Given the description of an element on the screen output the (x, y) to click on. 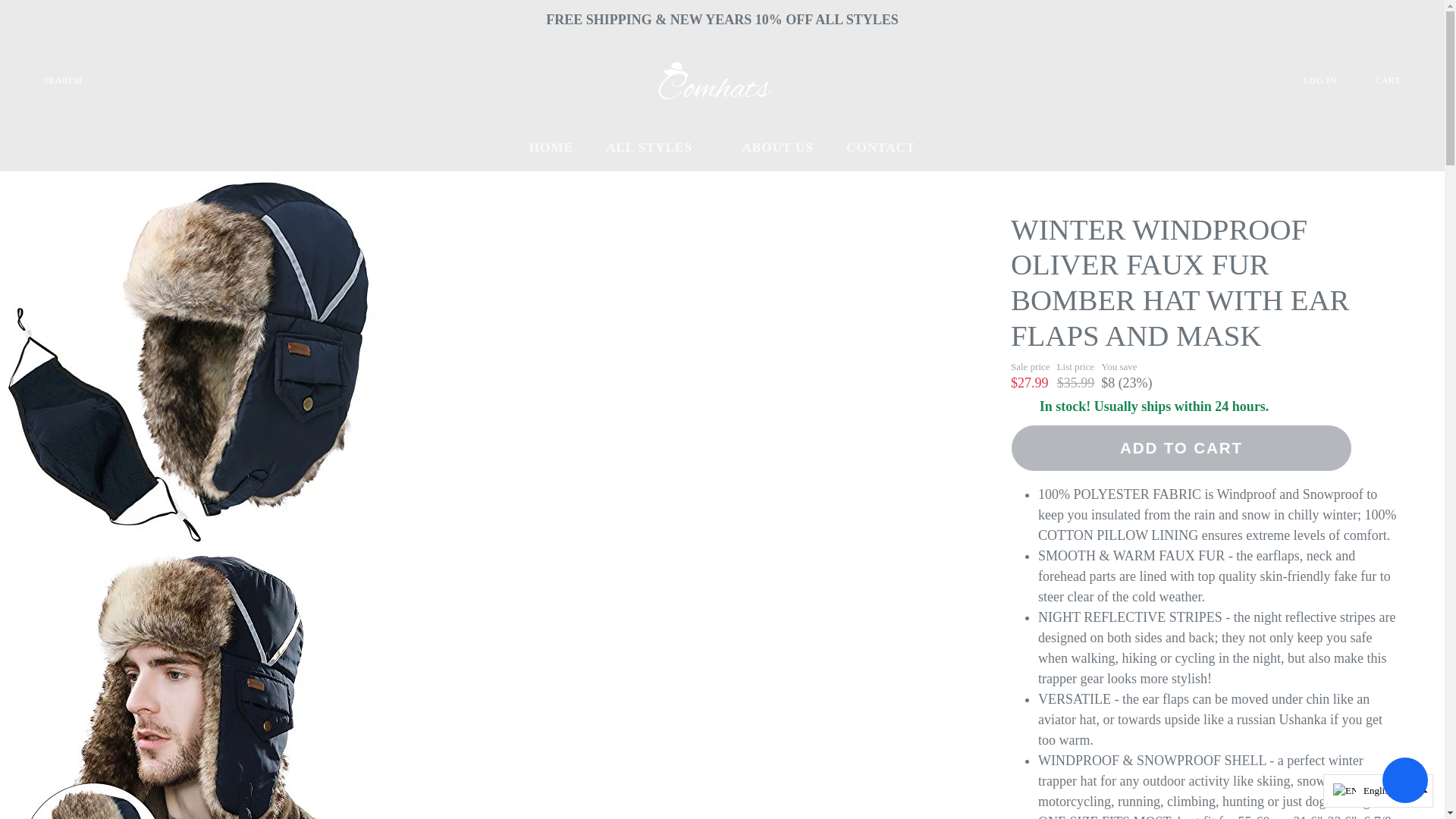
ALL STYLES (657, 147)
ABOUT US (777, 147)
SEARCH (51, 80)
Shopify online store chat (1404, 781)
HOME (550, 147)
ADD TO CART (1181, 448)
LOG IN (1331, 80)
CONTACT (880, 147)
CART (1398, 80)
